Given the description of an element on the screen output the (x, y) to click on. 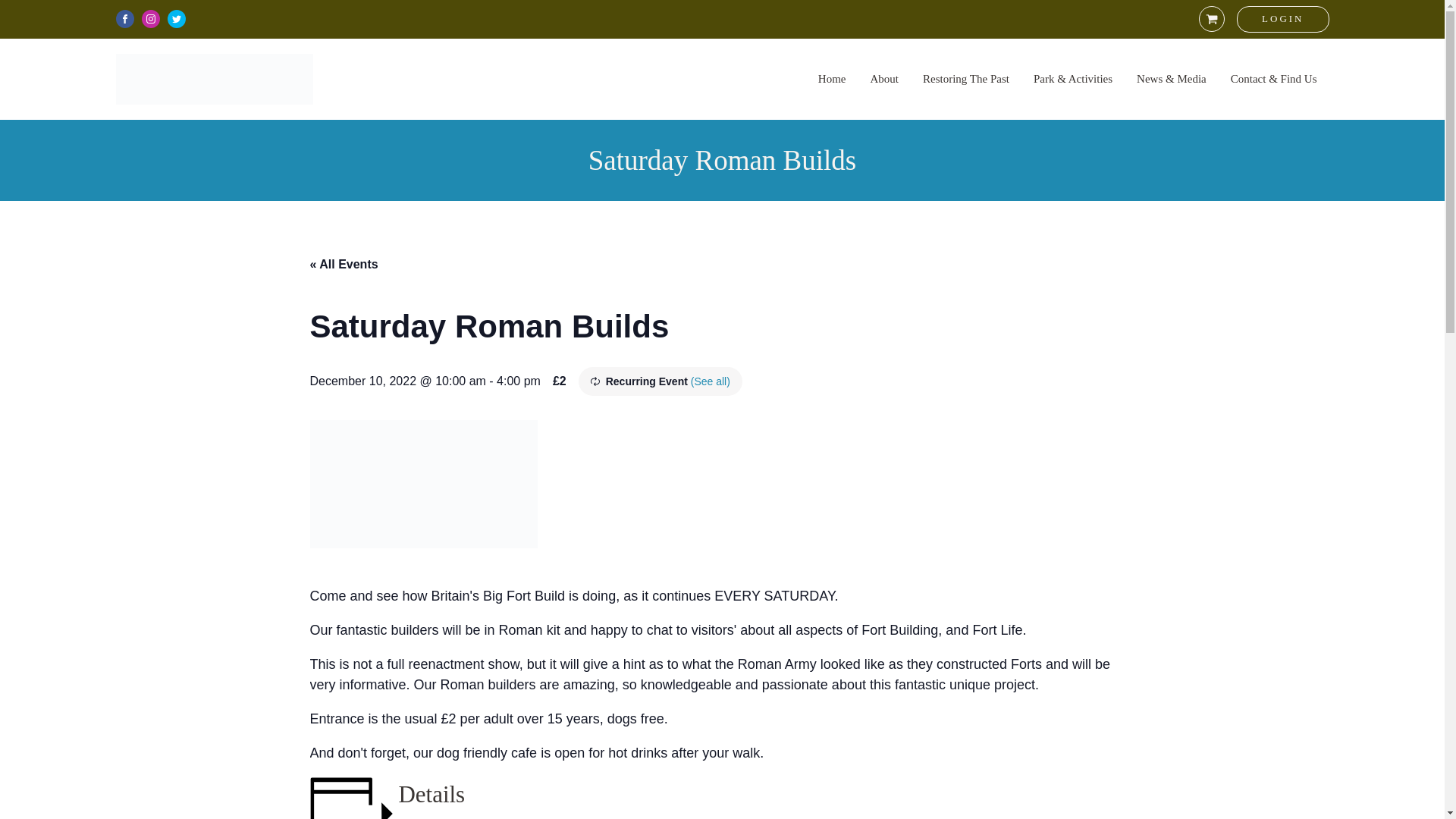
Restoring The Past (965, 79)
Home (831, 79)
About (884, 79)
LOGIN (1281, 18)
